Given the description of an element on the screen output the (x, y) to click on. 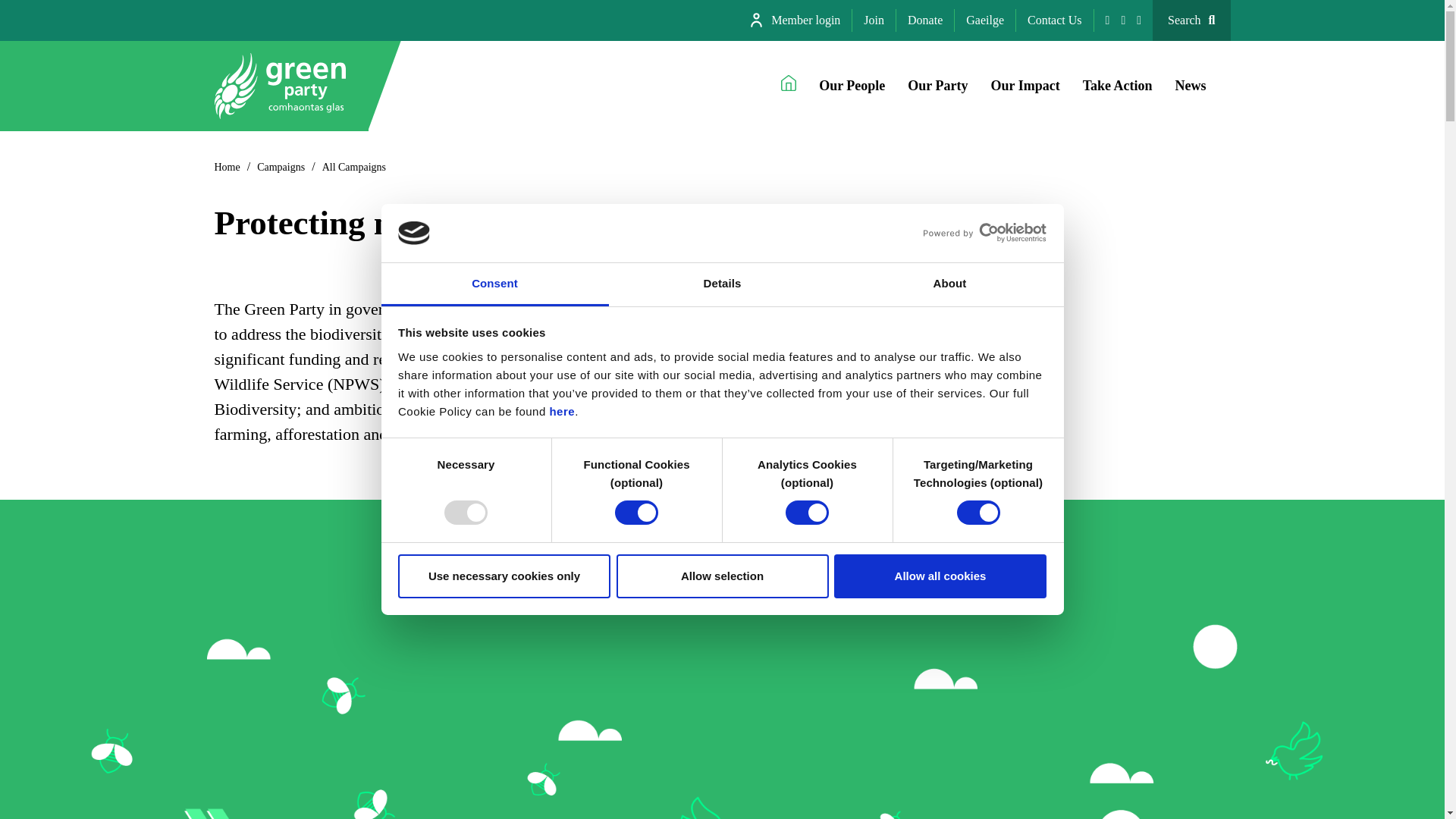
Details (721, 284)
here (561, 410)
Consent (494, 284)
About (948, 284)
